Given the description of an element on the screen output the (x, y) to click on. 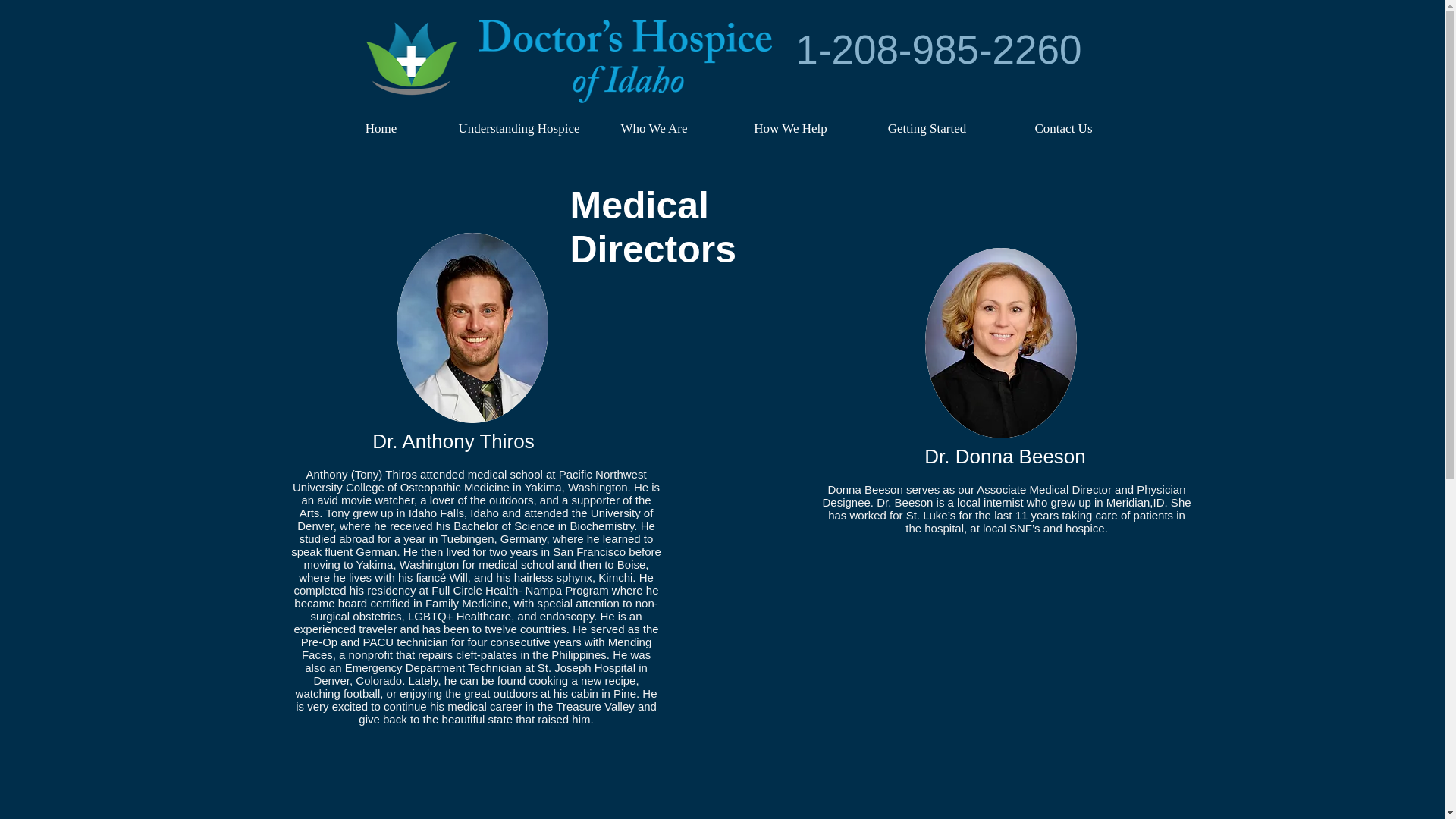
Who We Are (653, 128)
1-208-985-2260 (937, 49)
How We Help (789, 128)
Contact Us (1063, 128)
Home (380, 128)
